Given the description of an element on the screen output the (x, y) to click on. 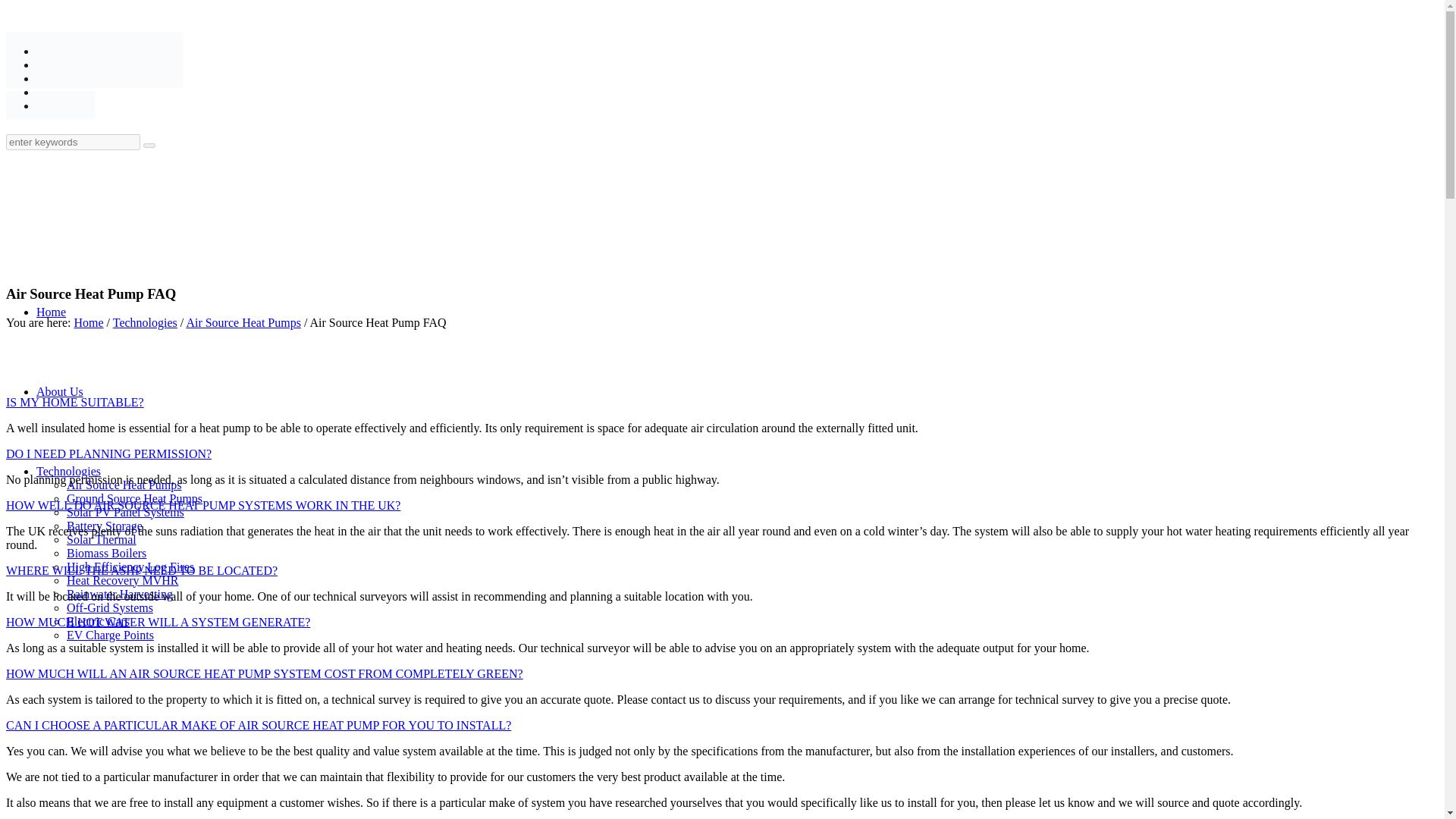
Off-Grid Systems (109, 606)
IS MY HOME SUITABLE? (74, 401)
Rainwater Harvesting (119, 593)
Solar Thermal (101, 538)
High Efficiency Log Fires (129, 565)
Biomass Boilers (106, 552)
Technologies (145, 322)
Technologies (68, 470)
HOW MUCH HOT WATER WILL A SYSTEM GENERATE? (157, 621)
Electric Cars (97, 620)
Heat Recovery MVHR (122, 579)
Home (88, 322)
Air Source Heat Pumps (243, 322)
Solar PV Panel Systems (125, 511)
